Given the description of an element on the screen output the (x, y) to click on. 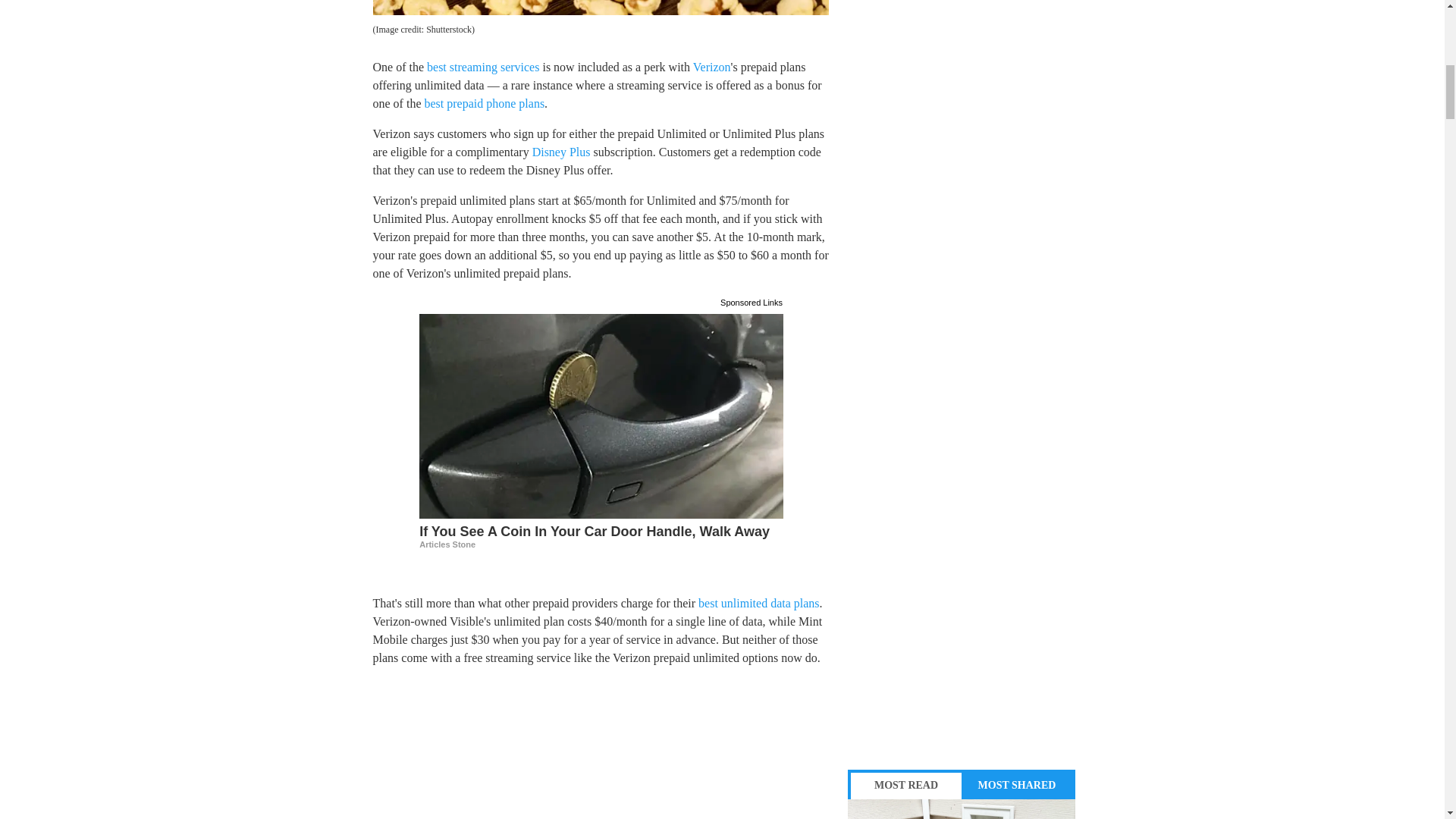
If You See A Coin In Your Car Door Handle, Walk Away (601, 535)
